Given the description of an element on the screen output the (x, y) to click on. 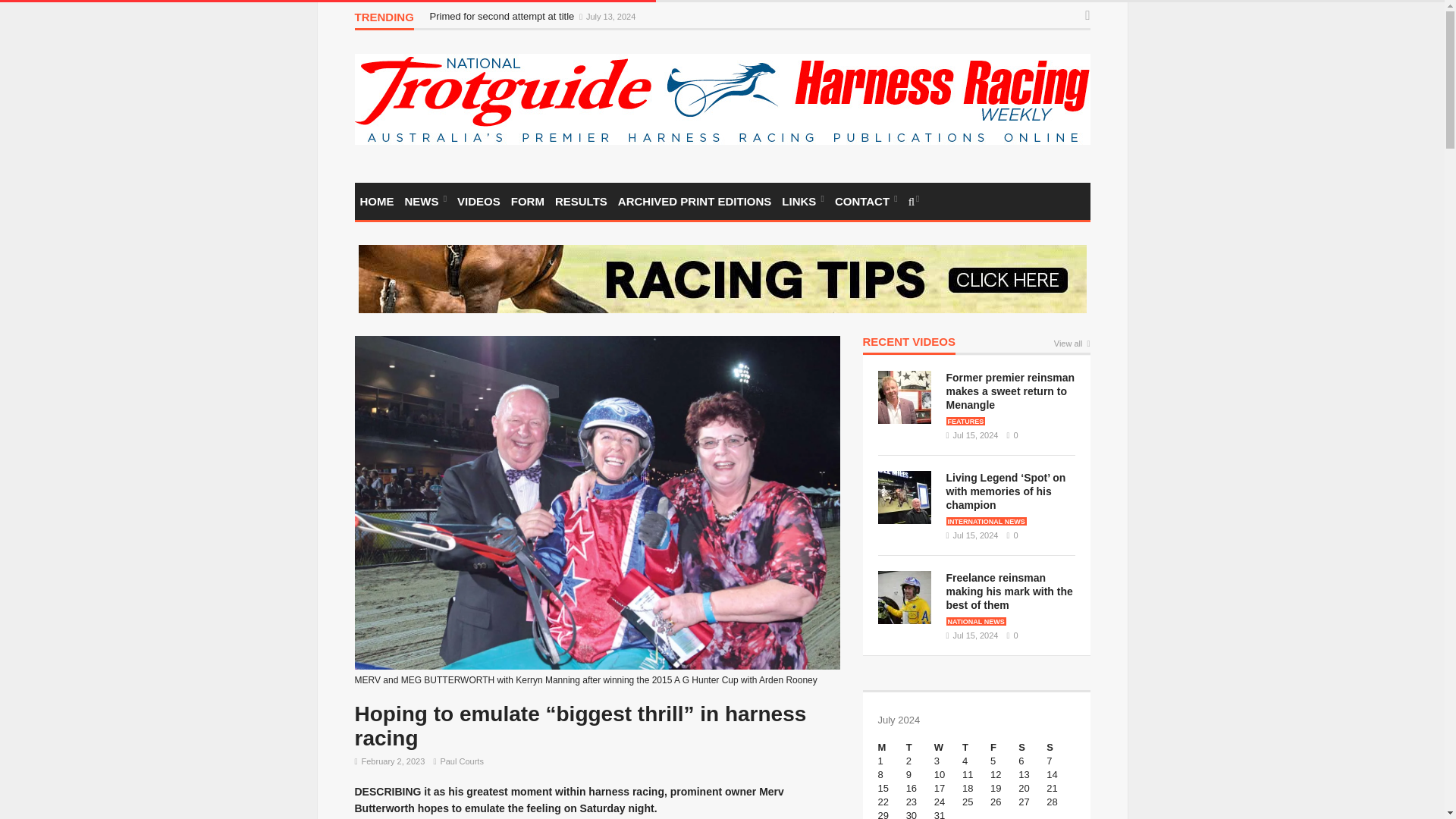
Videos (478, 201)
Results (581, 201)
TRENDING (384, 20)
Form (527, 201)
News (424, 201)
Primed for second attempt at title (502, 16)
Archived Print Editions (694, 201)
HOME (376, 201)
Home (376, 201)
NEWS (424, 201)
Links (802, 201)
